Given the description of an element on the screen output the (x, y) to click on. 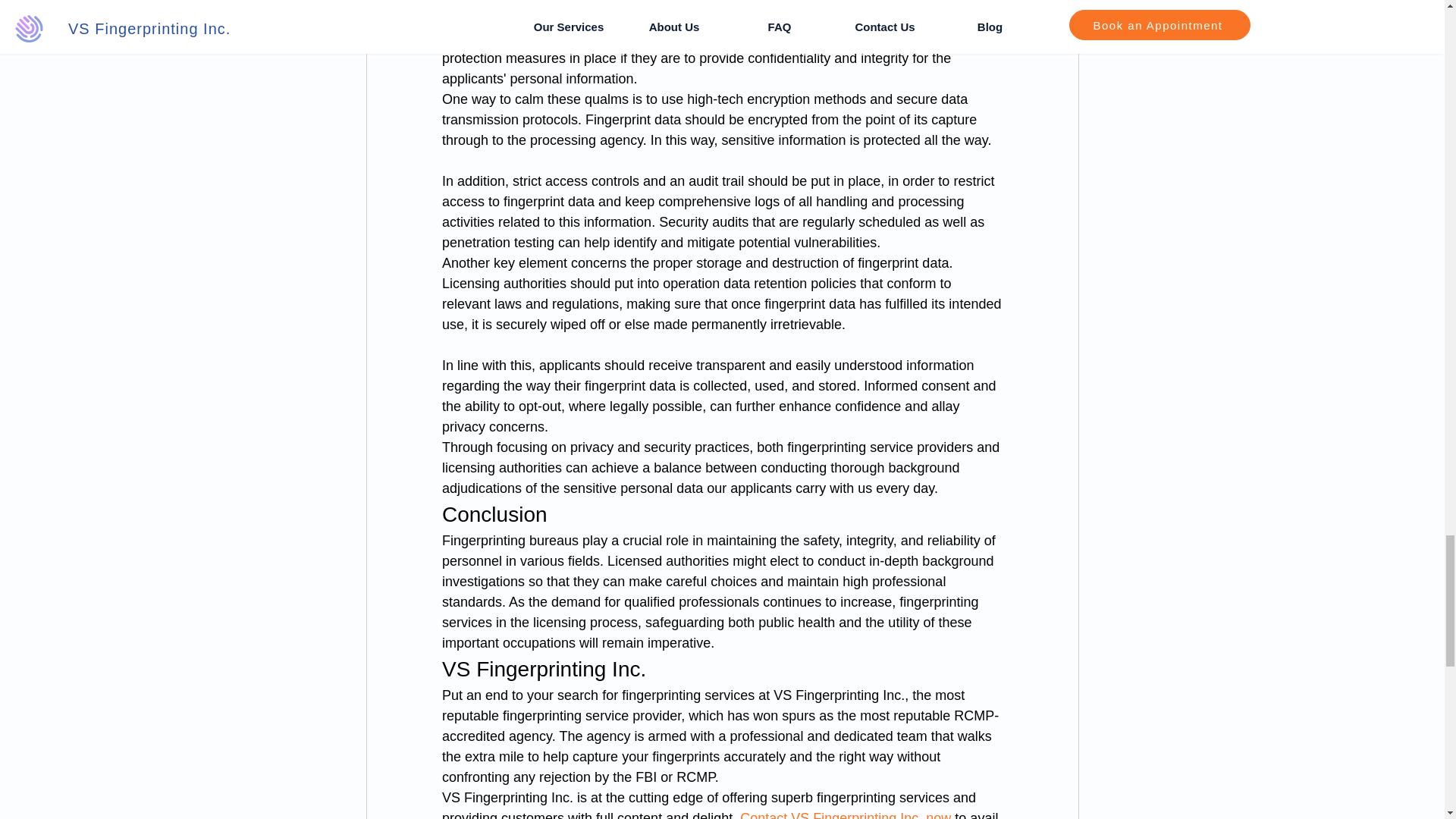
Contact VS Fingerprinting Inc. now  (847, 814)
